Given the description of an element on the screen output the (x, y) to click on. 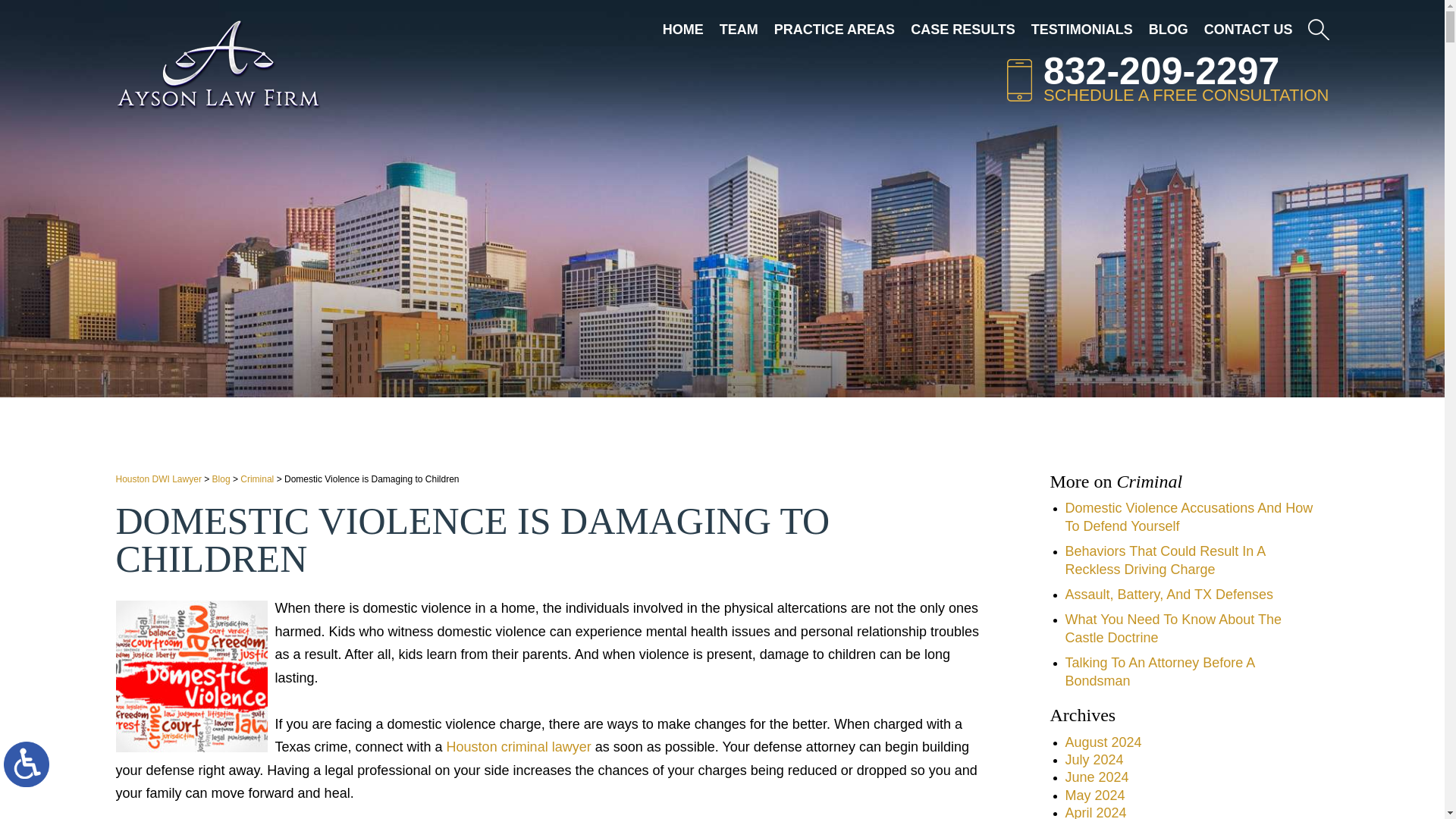
HOME (682, 29)
TEAM (738, 29)
Switch to ADA Accessible Theme (26, 764)
PRACTICE AREAS (834, 29)
DomesViol (190, 676)
